Given the description of an element on the screen output the (x, y) to click on. 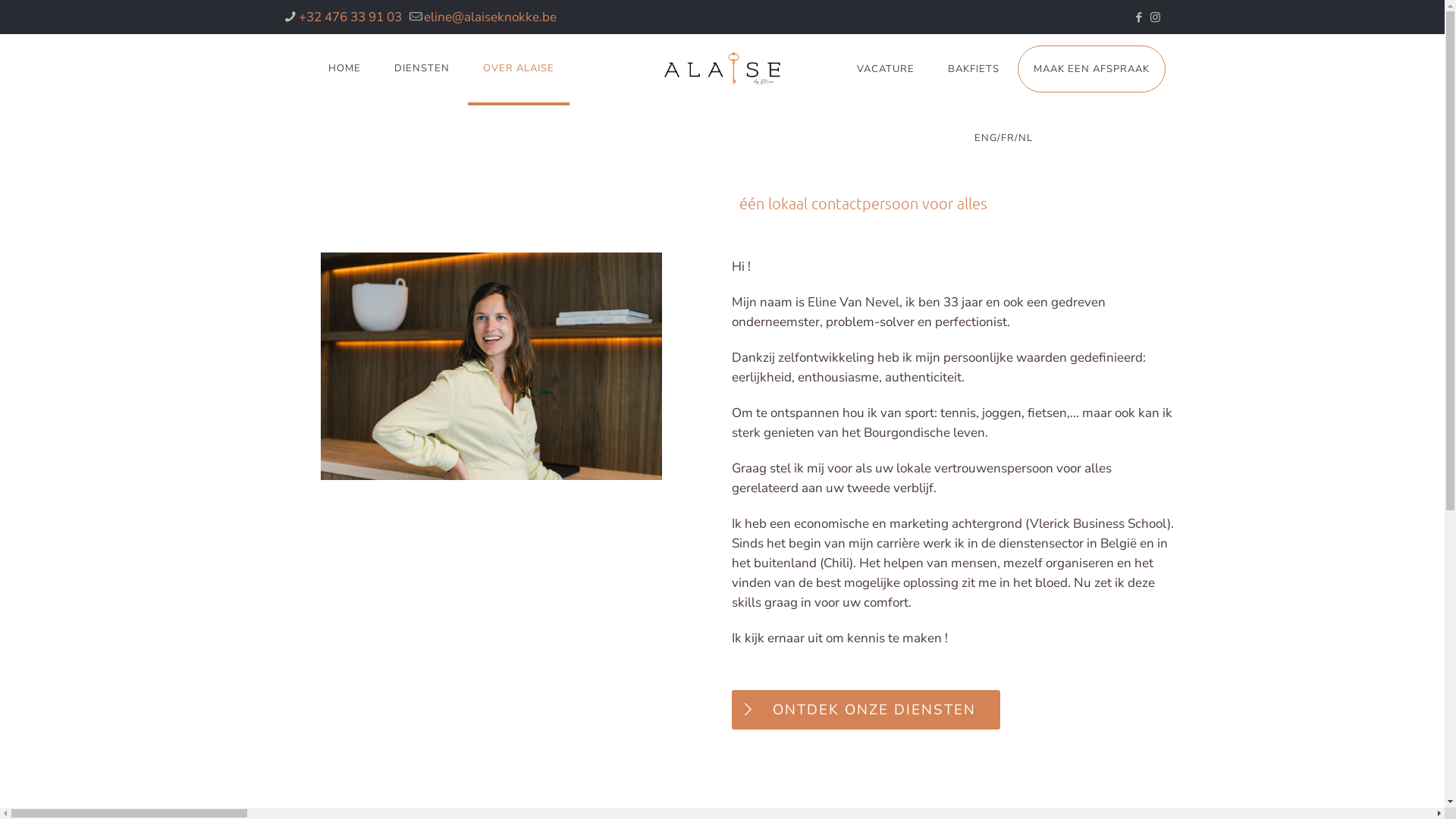
+32 476 33 91 03 Element type: text (349, 16)
Facebook Element type: hover (1138, 17)
Alaise Knokke Element type: hover (722, 68)
MAAK EEN AFSPRAAK Element type: text (1091, 68)
Instagram Element type: hover (1155, 17)
OVER ALAISE Element type: text (518, 68)
BAKFIETS Element type: text (973, 68)
DIENSTEN Element type: text (421, 68)
eline@alaiseknokke.be Element type: text (489, 16)
HOME Element type: text (344, 68)
ONTDEK ONZE DIENSTEN Element type: text (865, 709)
ENG/FR/NL Element type: text (1003, 137)
VACATURE Element type: text (885, 68)
